Given the description of an element on the screen output the (x, y) to click on. 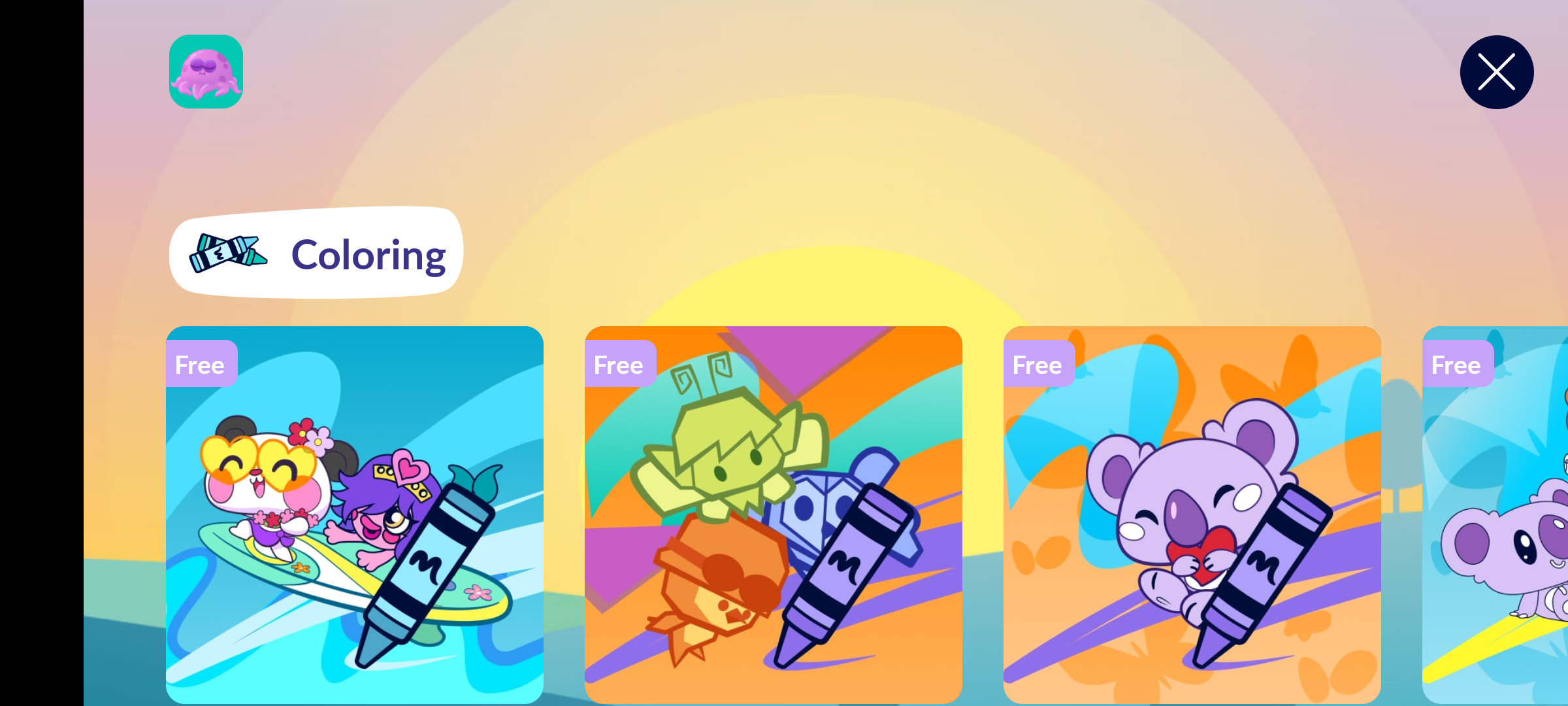
Profile icon (205, 71)
Featured Content Free (355, 514)
Featured Content Free (773, 514)
Featured Content Free (1192, 514)
